Given the description of an element on the screen output the (x, y) to click on. 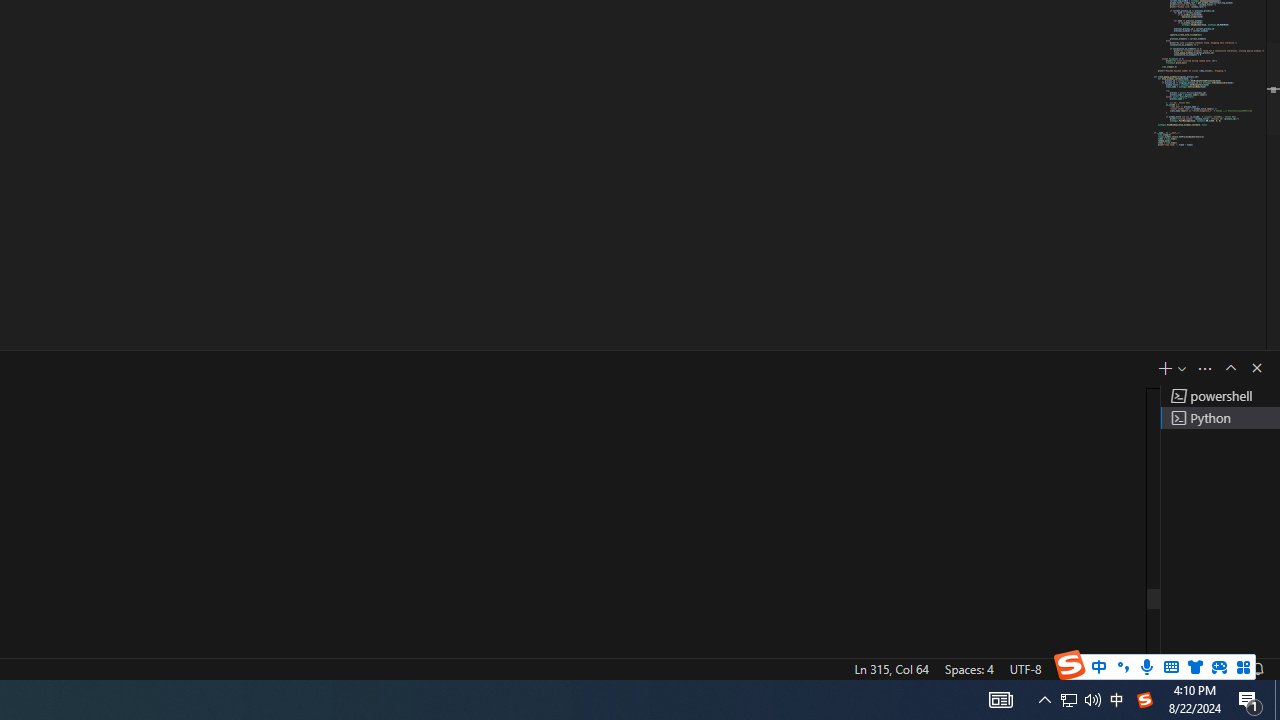
Show Preview (1067, 524)
Zoom (1116, 640)
Subtle Reference (1130, 83)
Class: NetUIButton (1119, 592)
